Given the description of an element on the screen output the (x, y) to click on. 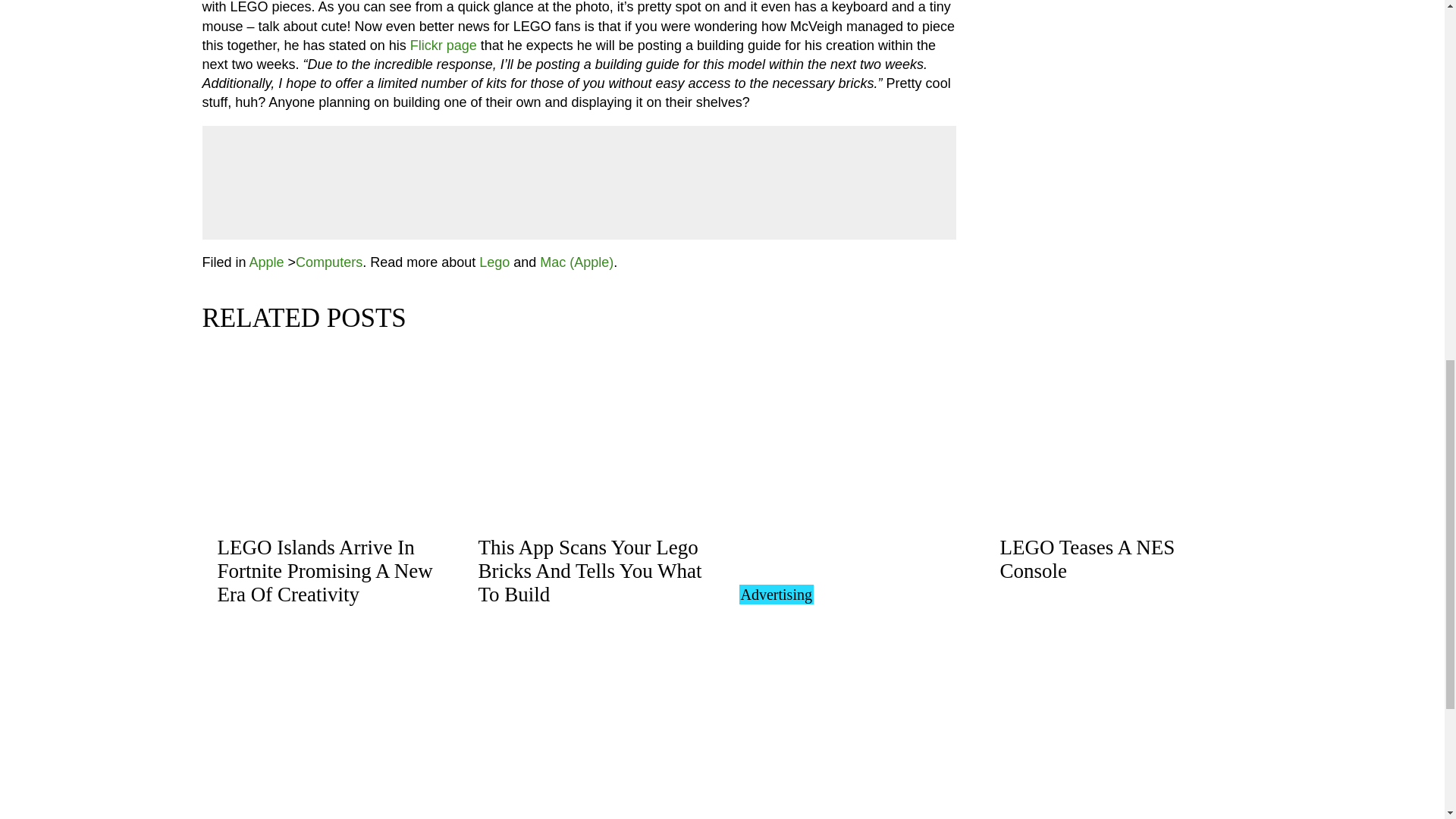
LEGO Teases A NES Console by Tyler Lee on 2020-07-13, 17:10 (1086, 559)
